Given the description of an element on the screen output the (x, y) to click on. 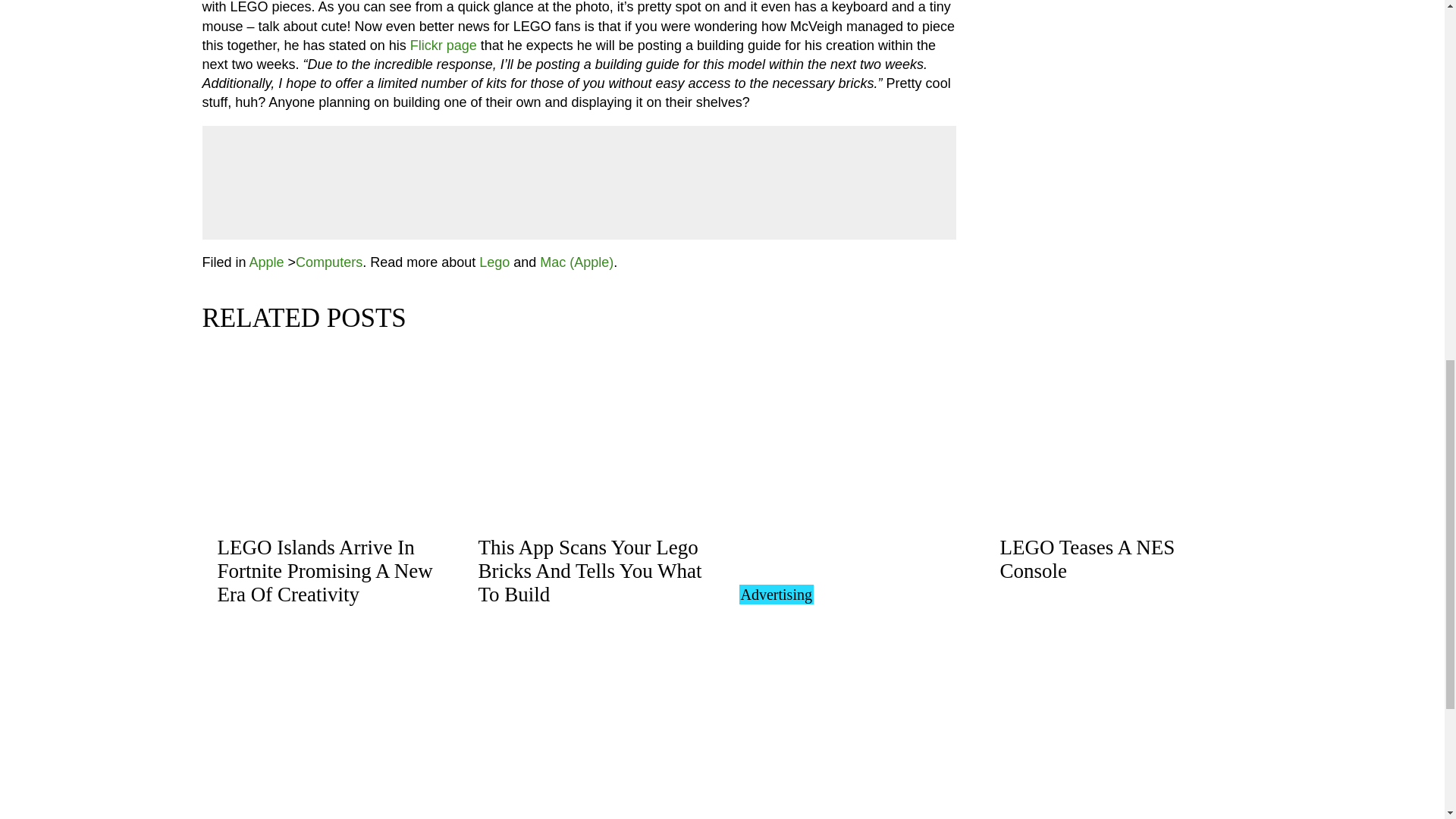
LEGO Teases A NES Console by Tyler Lee on 2020-07-13, 17:10 (1086, 559)
